Given the description of an element on the screen output the (x, y) to click on. 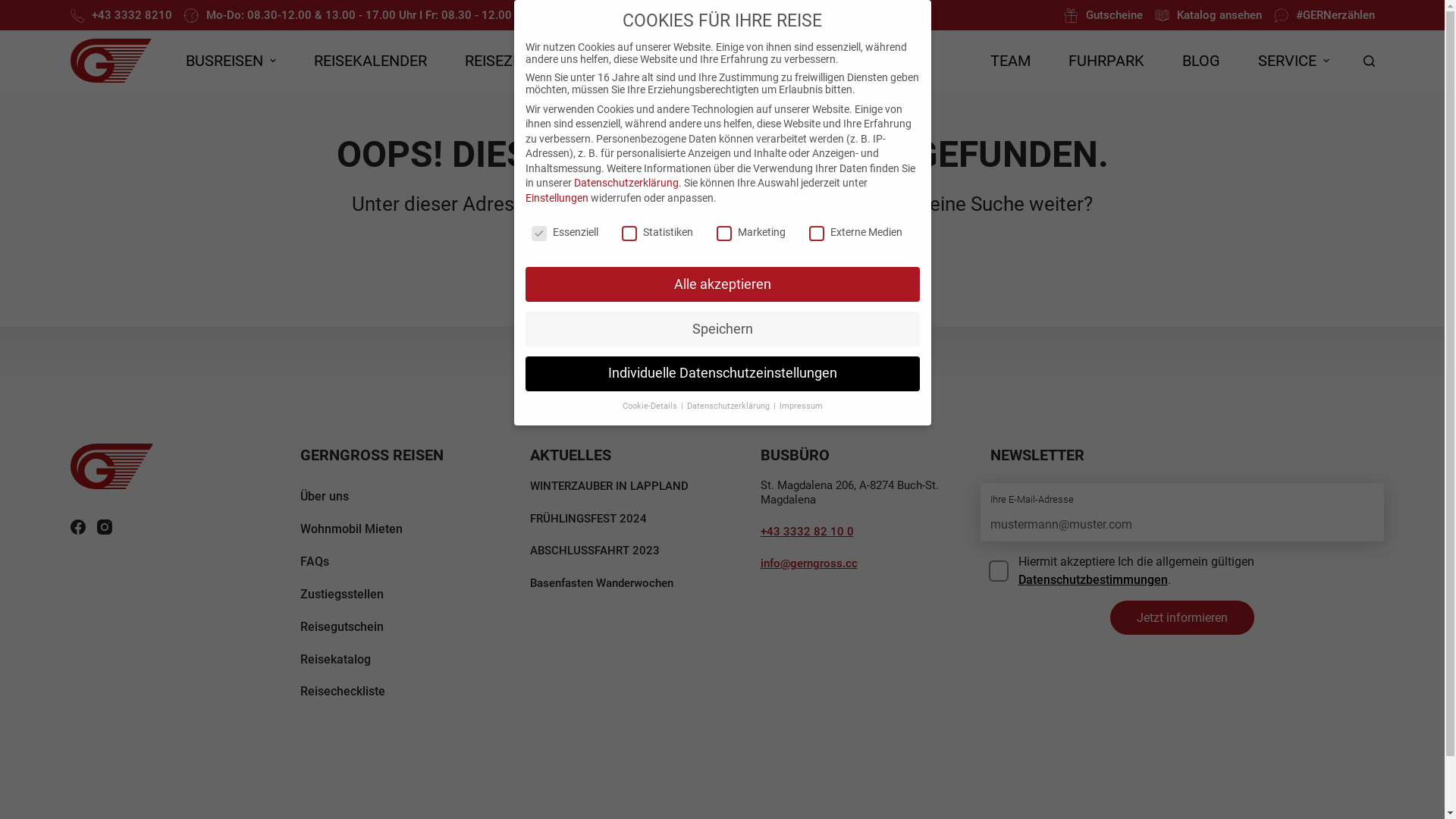
FAQs Element type: text (314, 561)
ABSCHLUSSFAHRT 2023 Element type: text (625, 550)
TEAM Element type: text (1009, 60)
Gutscheine Element type: text (1102, 14)
Reisegutschein Element type: text (341, 626)
FUHRPARK Element type: text (1106, 60)
+43 3332 8210 Element type: text (120, 14)
Wohnmobil Mieten Element type: text (351, 528)
Alle akzeptieren Element type: text (721, 283)
Zustiegsstellen Element type: text (341, 593)
Individuelle Datenschutzeinstellungen Element type: text (721, 373)
Katalog ansehen Element type: text (1207, 14)
Basenfasten Wanderwochen Element type: text (625, 583)
BUSMIETE Element type: text (769, 60)
REISEKALENDER Element type: text (369, 60)
info@gerngross.cc Element type: text (807, 563)
REISEZIELE Element type: text (502, 60)
SERVICE Element type: text (1293, 60)
Zum Inhalt springen Element type: text (15, 7)
Impressum Element type: text (800, 406)
GRUPPENREISEN Element type: text (637, 60)
Jetzt informieren Element type: text (1182, 617)
Datenschutzbestimmungen Element type: text (1092, 579)
Einstellungen Element type: text (555, 197)
BLOG Element type: text (1201, 60)
Reisekatalog Element type: text (335, 659)
WINTERZAUBER IN LAPPLAND Element type: text (625, 486)
Cookie-Details Element type: text (649, 406)
BUSREISEN Element type: text (230, 60)
Speichern Element type: text (721, 328)
+43 3332 82 10 0 Element type: text (806, 531)
Reisecheckliste Element type: text (342, 691)
